Given the description of an element on the screen output the (x, y) to click on. 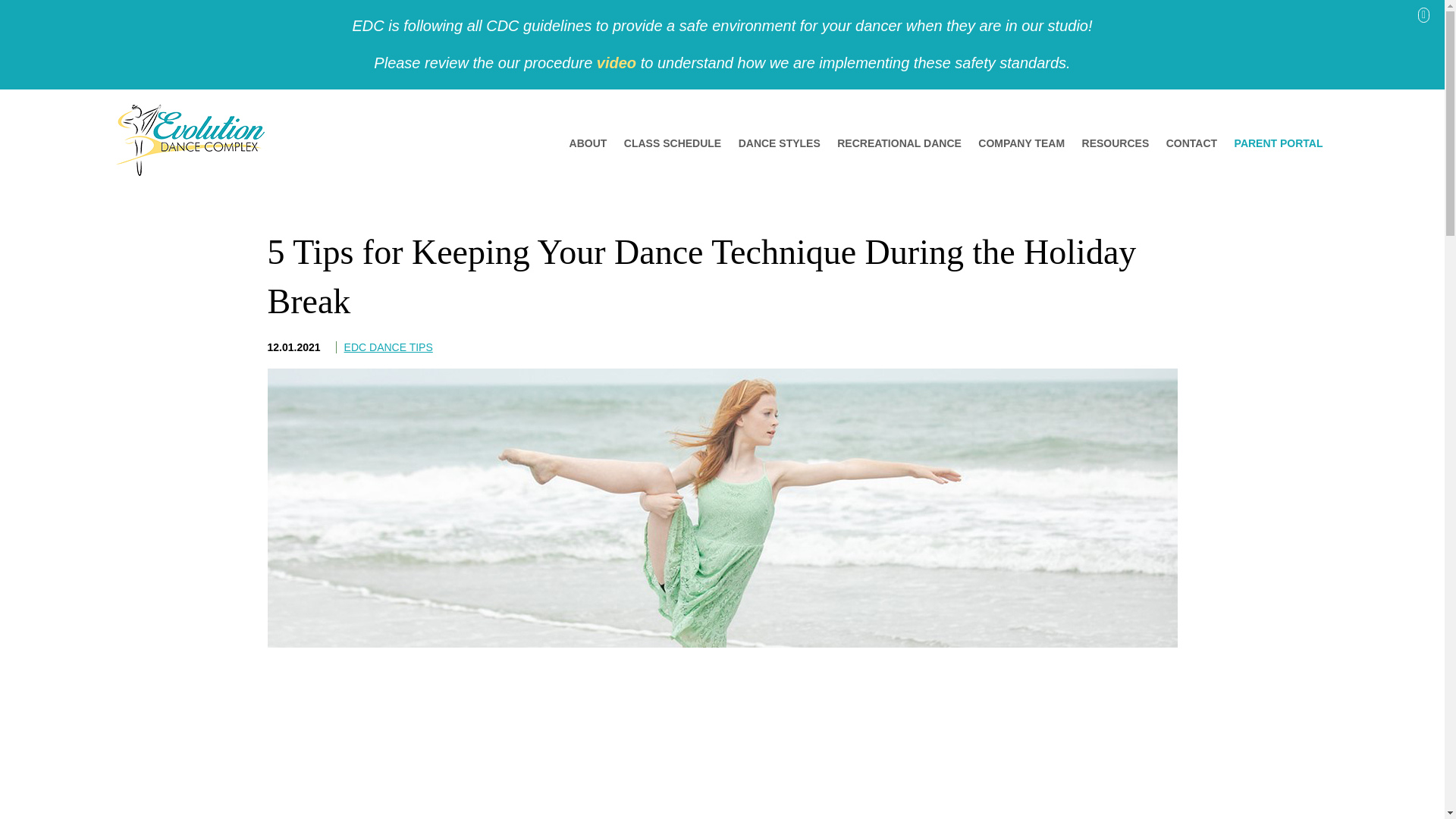
CLASS SCHEDULE (672, 143)
COMPANY TEAM (1021, 143)
RECREATIONAL DANCE (899, 143)
video (616, 62)
EDC DANCE TIPS (387, 346)
DANCE STYLES (779, 143)
PARENT PORTAL (1278, 143)
